Given the description of an element on the screen output the (x, y) to click on. 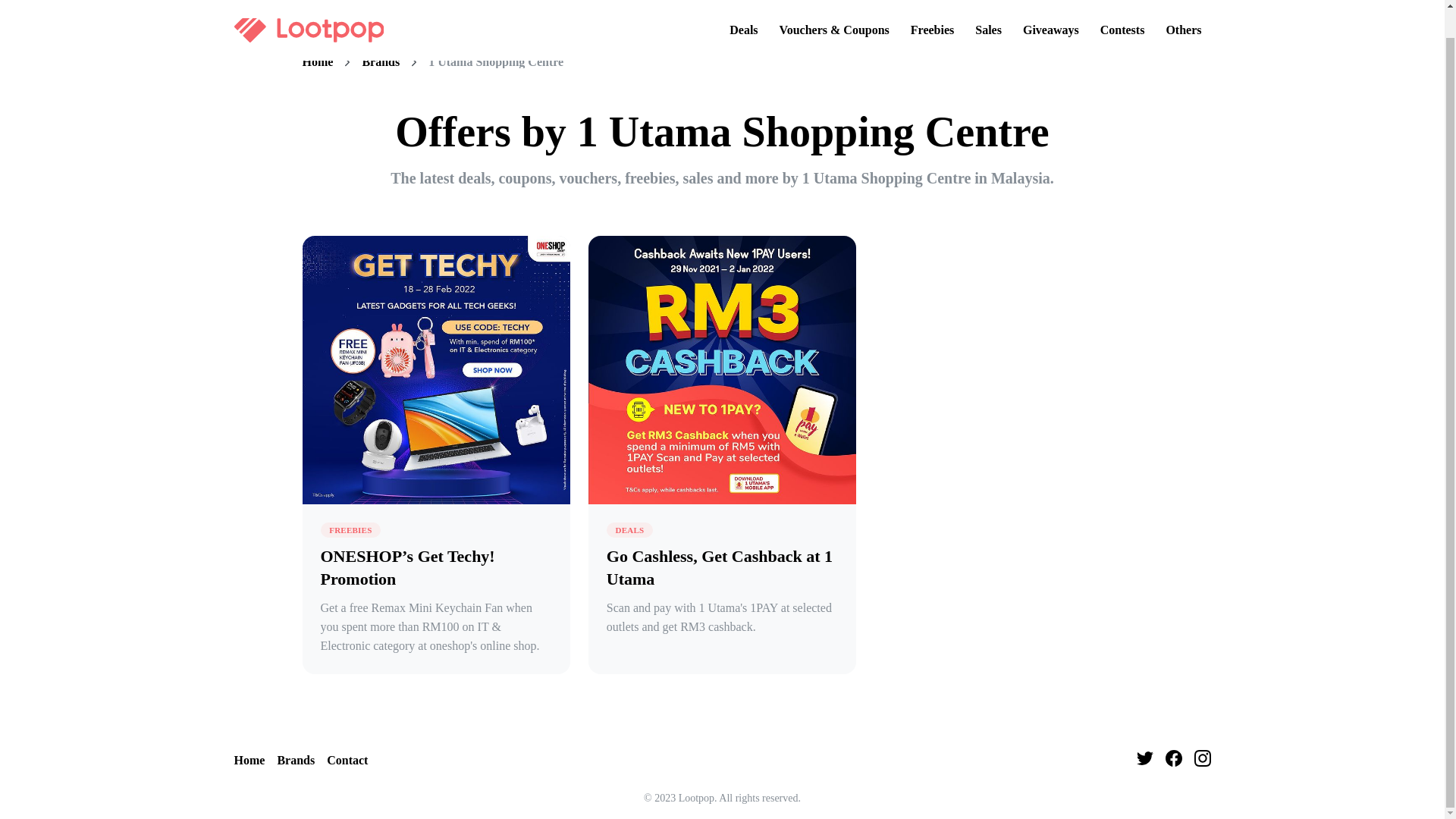
Brands (379, 61)
Brands (295, 760)
Giveaways (1050, 7)
Sales (988, 7)
Others (1182, 7)
Deals (743, 7)
Contests (1122, 7)
Home (317, 61)
Home (248, 760)
Contact (347, 760)
Freebies (931, 7)
